Given the description of an element on the screen output the (x, y) to click on. 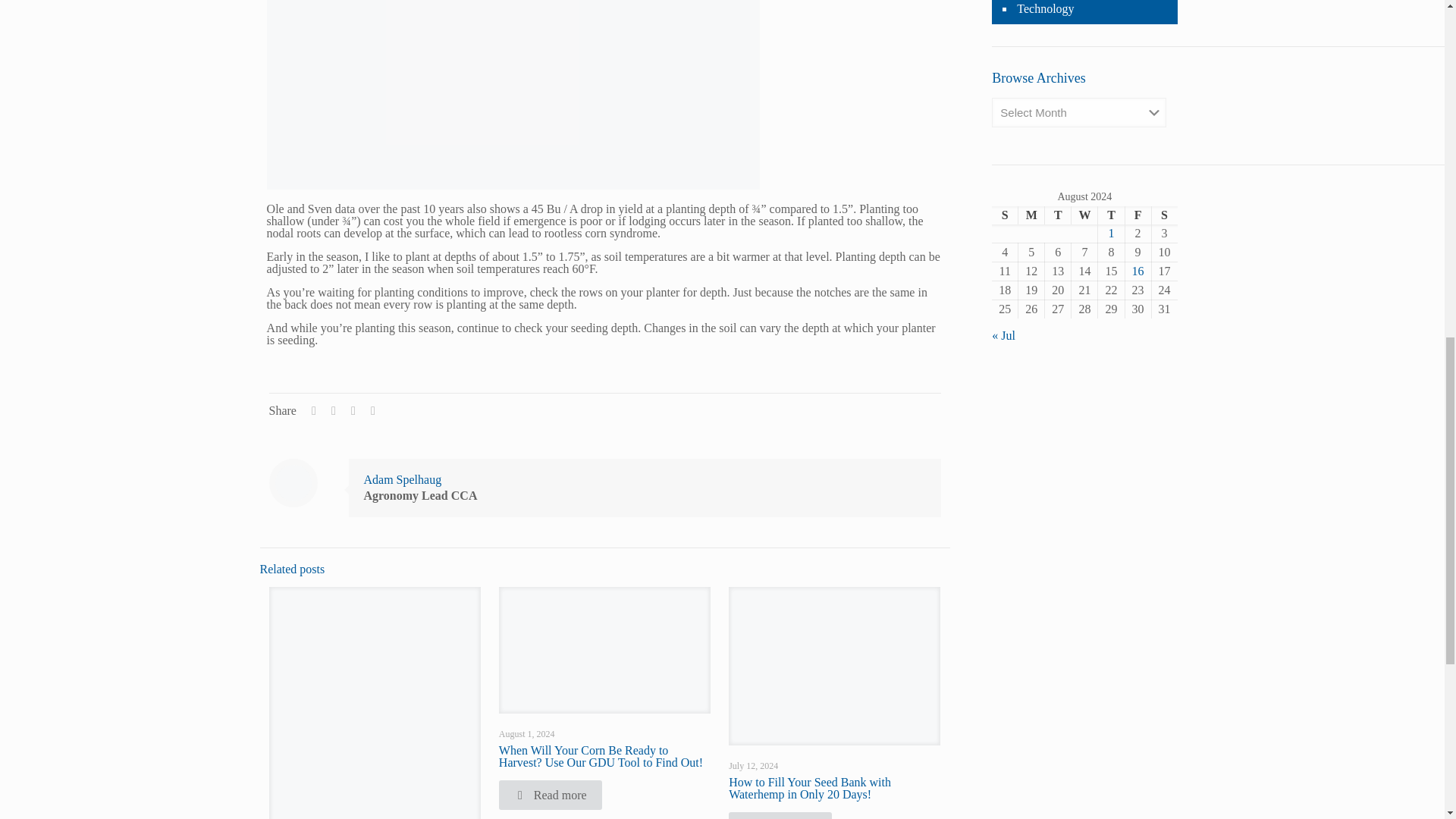
Monday (1031, 215)
Sunday (1004, 215)
Tuesday (1058, 215)
Wednesday (1084, 215)
Thursday (1110, 215)
Friday (1137, 215)
Saturday (1163, 215)
